Given the description of an element on the screen output the (x, y) to click on. 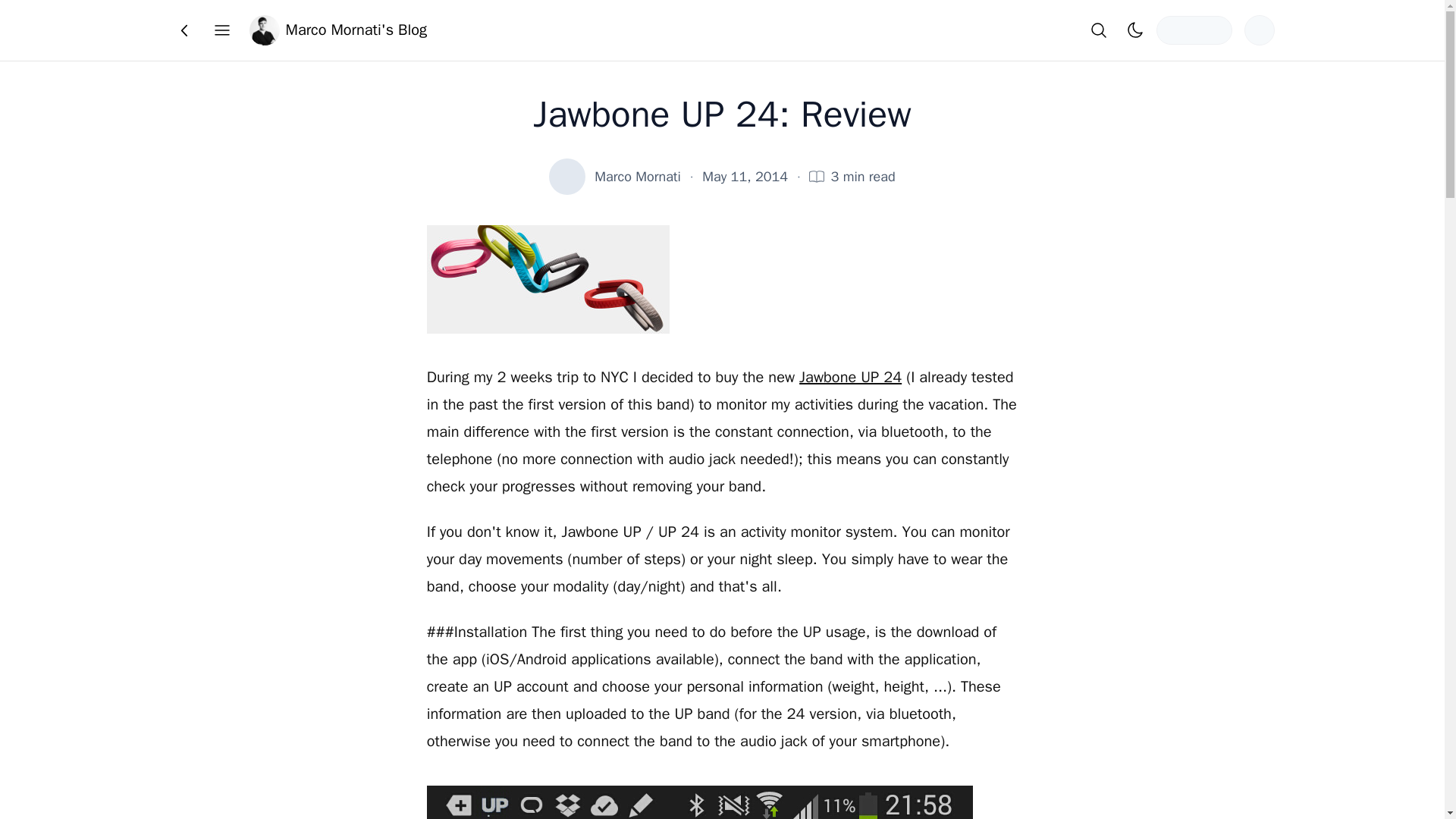
May 11, 2014 (744, 176)
Marco Mornati's Blog (337, 30)
Marco Mornati (637, 176)
Jawbone UP 24 (850, 376)
